Given the description of an element on the screen output the (x, y) to click on. 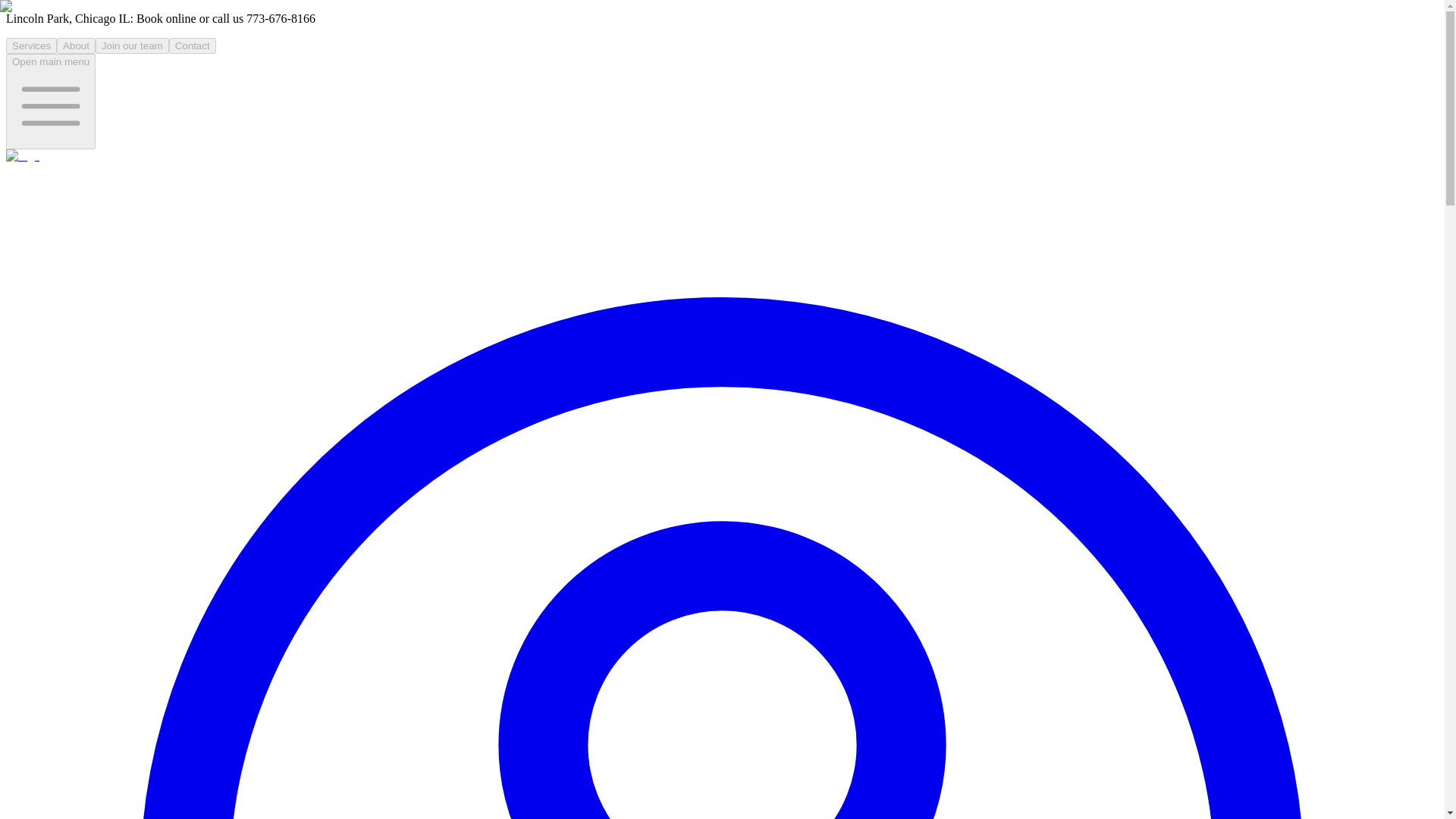
Services (30, 44)
Contact (191, 44)
Open main menu (50, 101)
About (76, 44)
Join our team (132, 44)
Contact (191, 45)
About (76, 45)
Services (30, 45)
Join our team (132, 45)
